Given the description of an element on the screen output the (x, y) to click on. 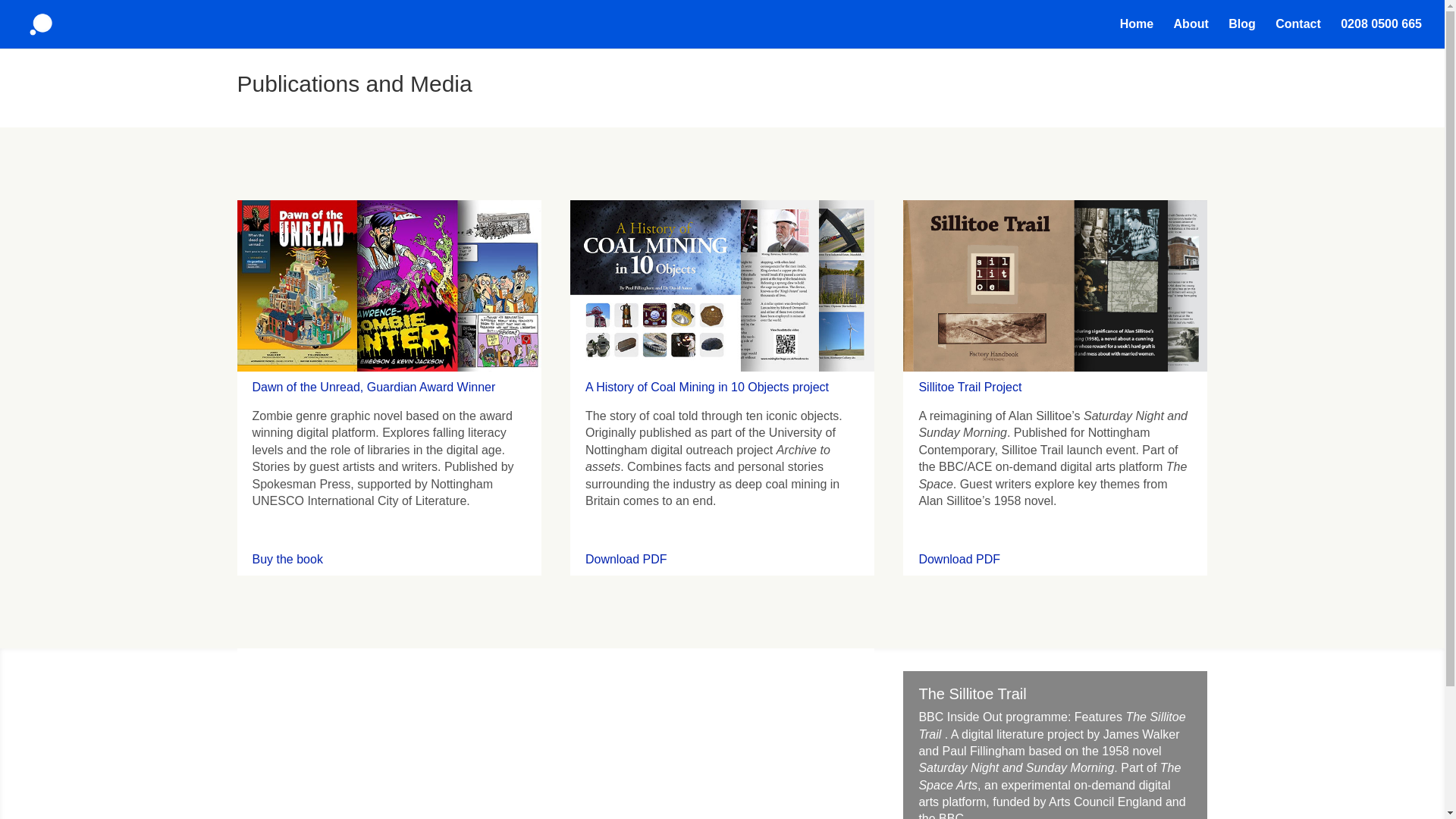
Blog (1241, 33)
Dawn of the Unread, Guardian Award Winner (373, 386)
Download PDF (959, 558)
0208 0500 665 (1381, 33)
Buy the book (286, 558)
A History of Coal Mining in 10 Objects project (706, 386)
Home (1136, 33)
About (1190, 33)
Download PDF (625, 558)
Sillitoe Trail Project (970, 386)
Contact (1297, 33)
